Given the description of an element on the screen output the (x, y) to click on. 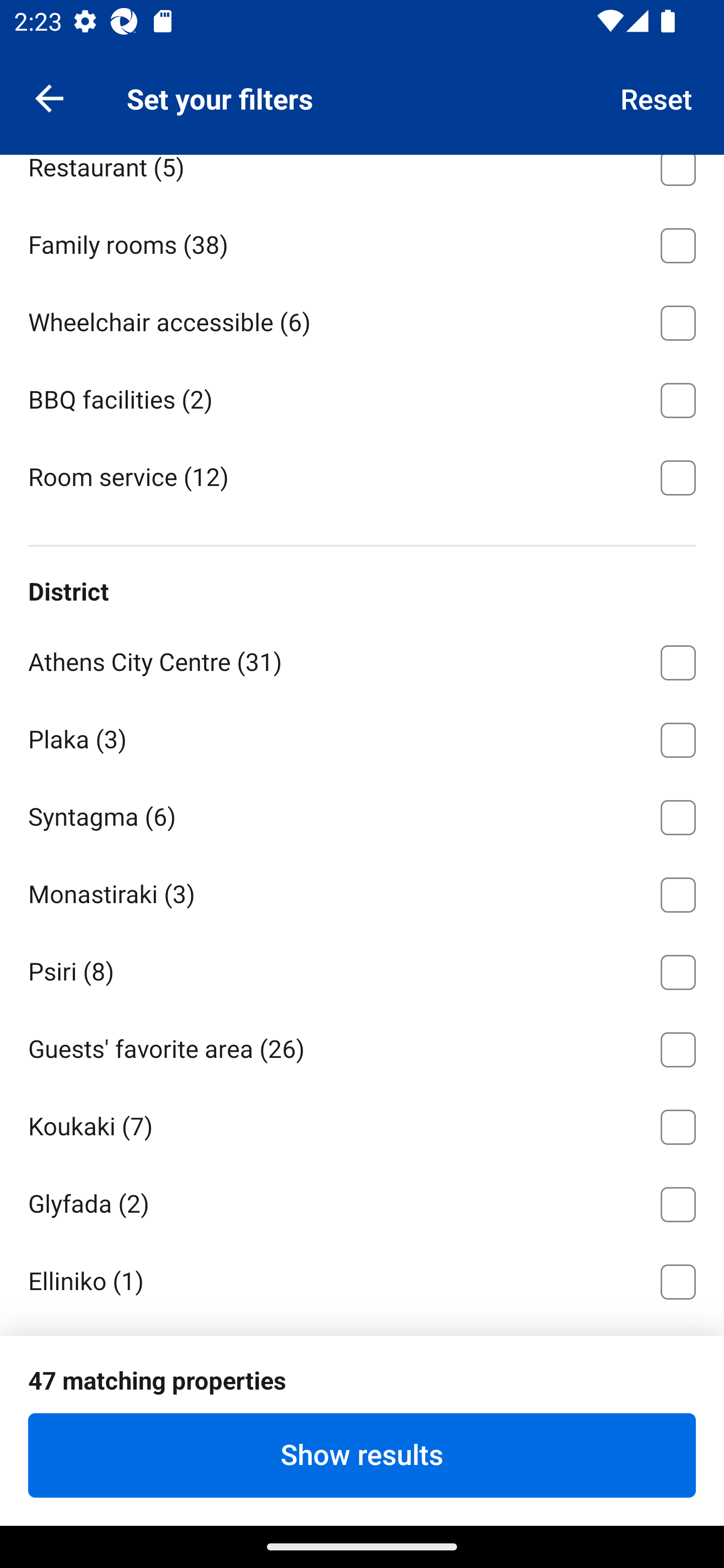
Airport shuttle ⁦(34) (361, 86)
Navigate up (49, 97)
Reset (656, 97)
Restaurant ⁦(5) (361, 179)
Family rooms ⁦(38) (361, 241)
Wheelchair accessible ⁦(6) (361, 319)
BBQ facilities ⁦(2) (361, 397)
Room service ⁦(12) (361, 475)
Athens City Centre ⁦(31) (361, 658)
Plaka ⁦(3) (361, 736)
Syntagma ⁦(6) (361, 814)
Monastiraki ⁦(3) (361, 890)
Psiri ⁦(8) (361, 968)
Guests' favorite area ⁦(26) (361, 1046)
Koukaki ⁦(7) (361, 1123)
Glyfada ⁦(2) (361, 1200)
Elliniko ⁦(1) (361, 1278)
Show results (361, 1454)
